Given the description of an element on the screen output the (x, y) to click on. 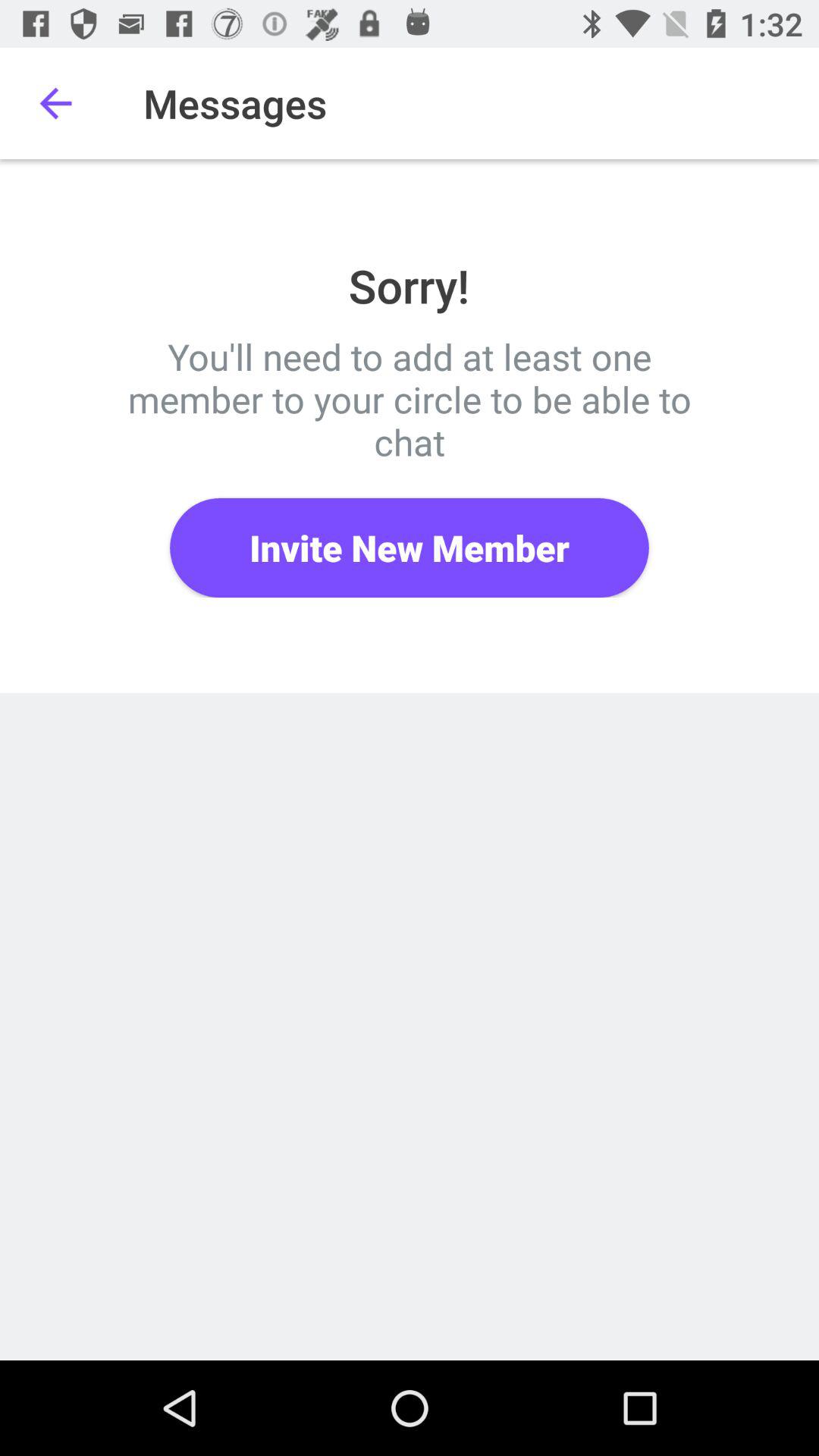
open the item at the center (409, 547)
